Given the description of an element on the screen output the (x, y) to click on. 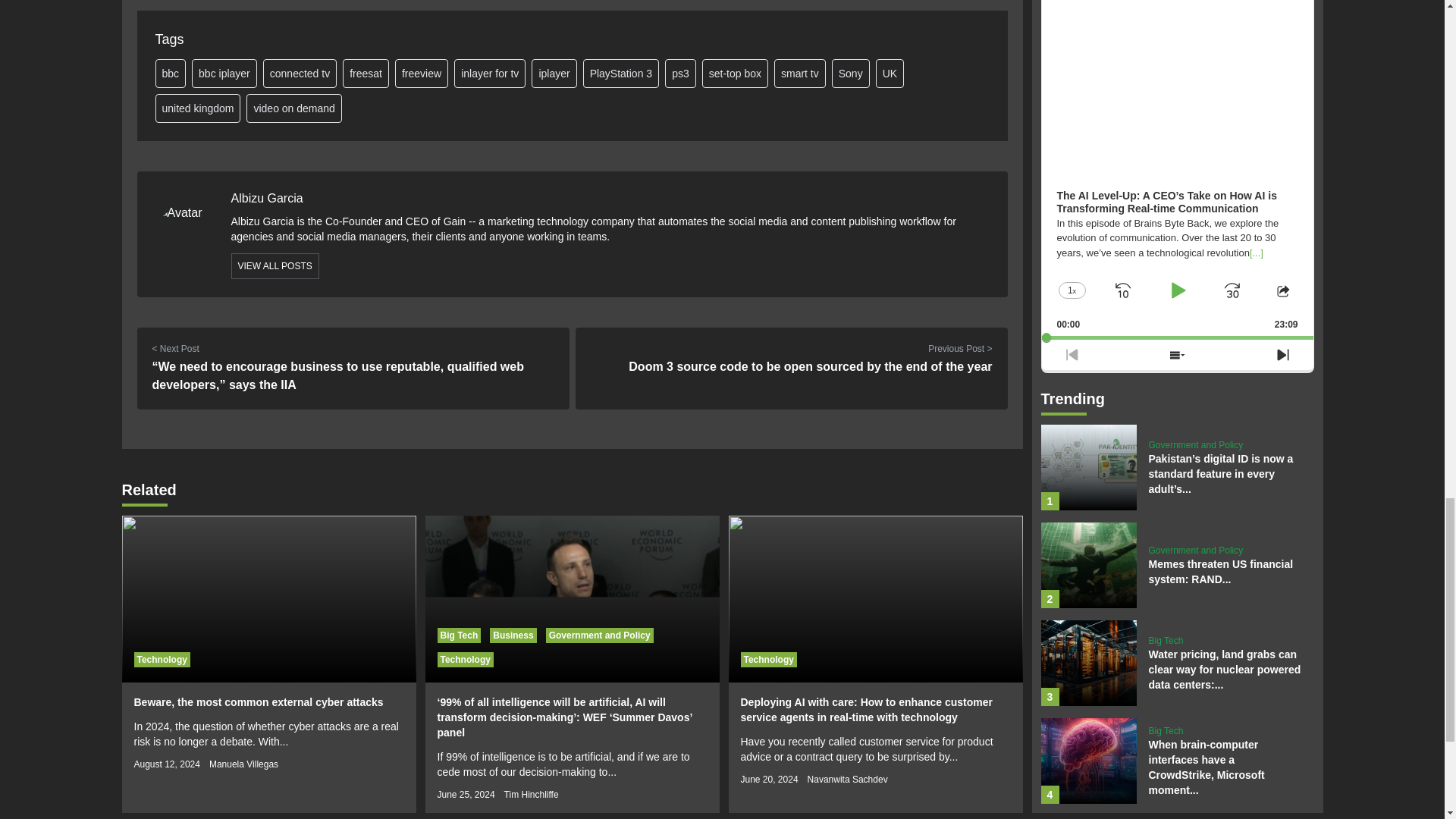
freesat (365, 72)
iplayer (553, 72)
inlayer for tv (489, 72)
PlayStation 3 (621, 72)
bbc (170, 72)
bbc iplayer (224, 72)
connected tv (299, 72)
freeview (421, 72)
